Given the description of an element on the screen output the (x, y) to click on. 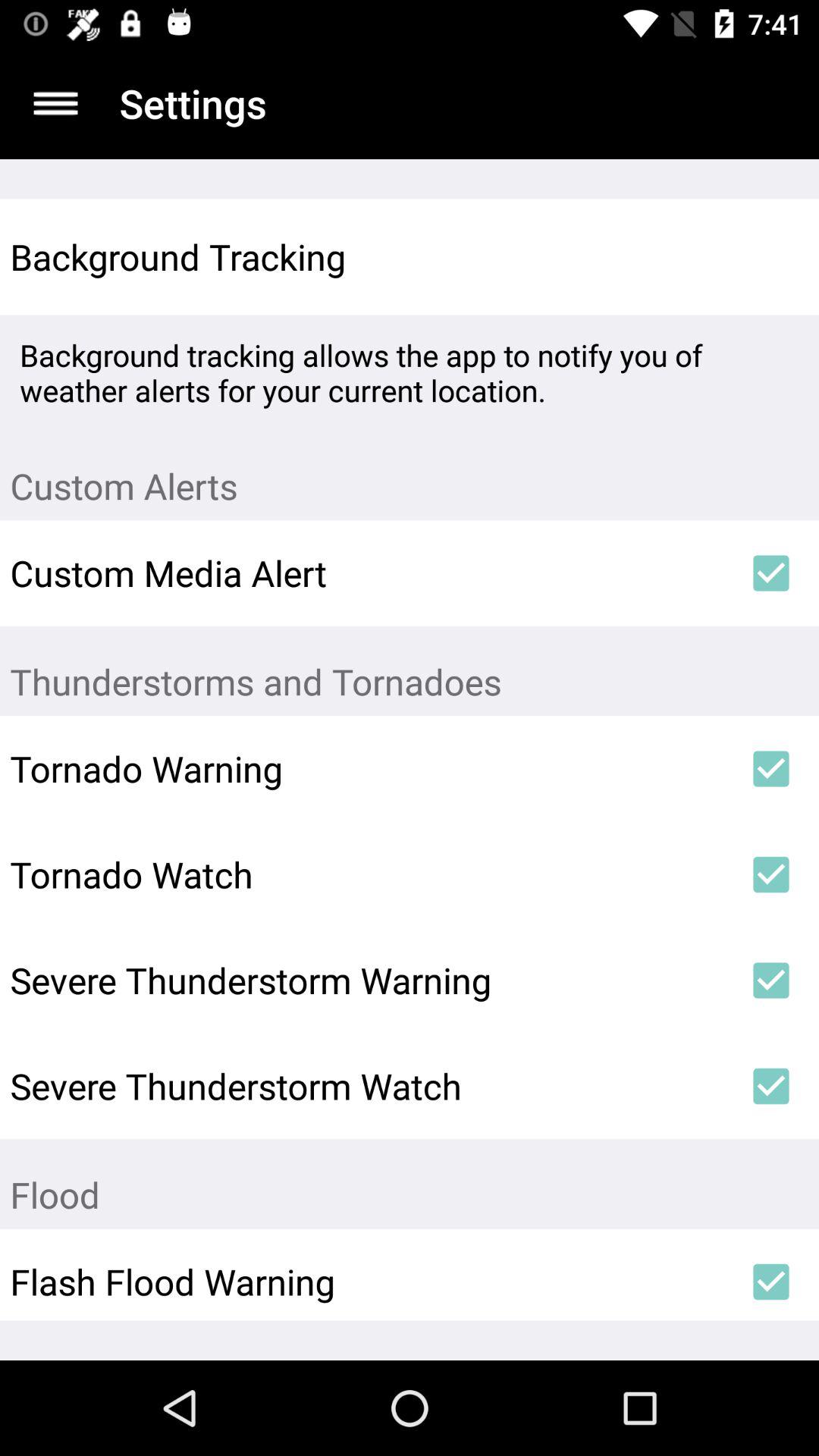
launch item to the right of background tracking (771, 256)
